Given the description of an element on the screen output the (x, y) to click on. 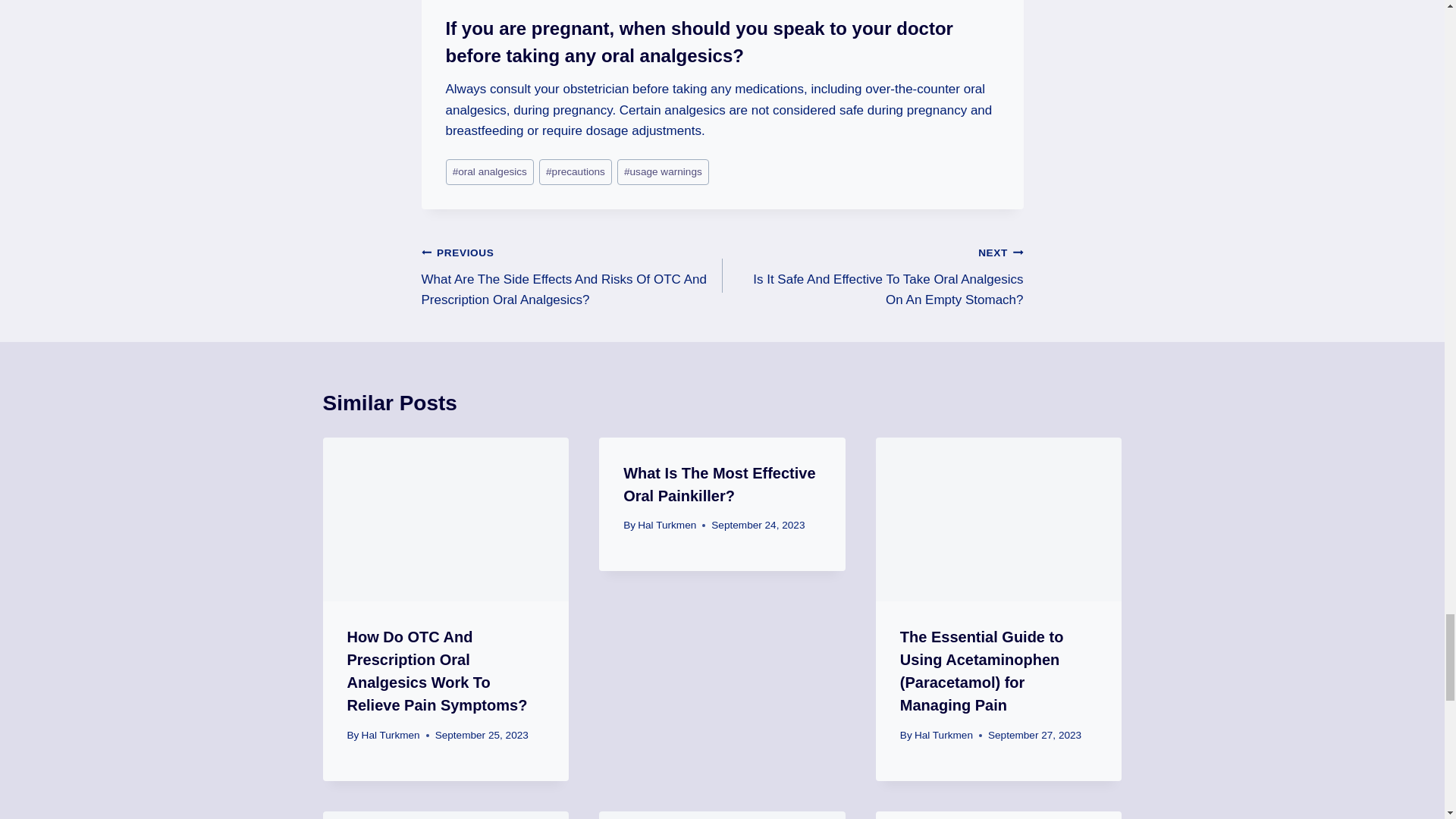
precautions (574, 171)
Hal Turkmen (943, 735)
usage warnings (663, 171)
oral analgesics (489, 171)
What Is The Most Effective Oral Painkiller? (719, 484)
Hal Turkmen (666, 524)
Hal Turkmen (390, 735)
